Given the description of an element on the screen output the (x, y) to click on. 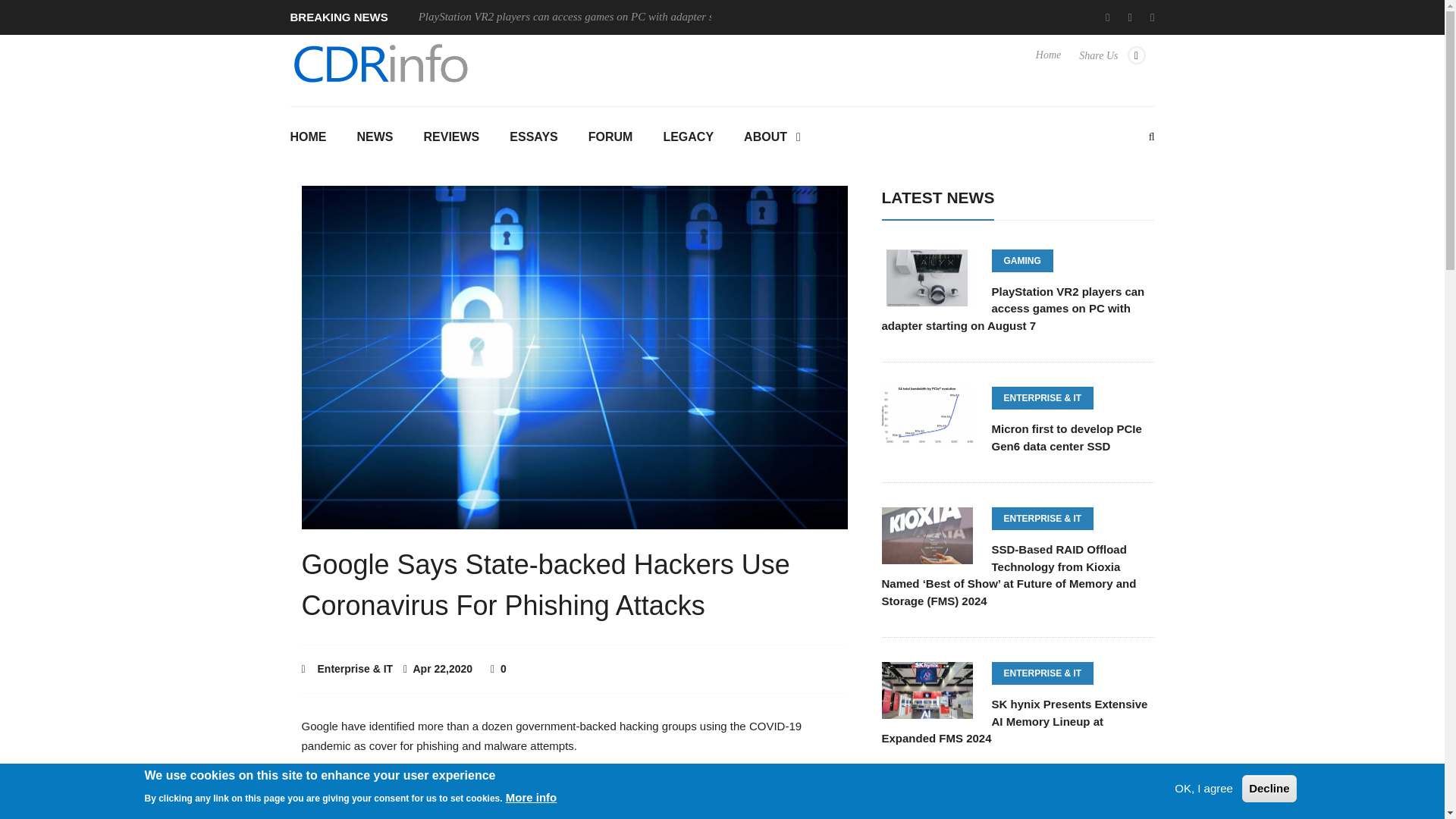
Search (722, 271)
Home (1048, 62)
LEGACY (688, 138)
ABOUT (772, 138)
Share Us (1112, 62)
NEWS (373, 138)
FORUM (610, 138)
Apr 22,2020 (439, 668)
REVIEWS (451, 138)
